Given the description of an element on the screen output the (x, y) to click on. 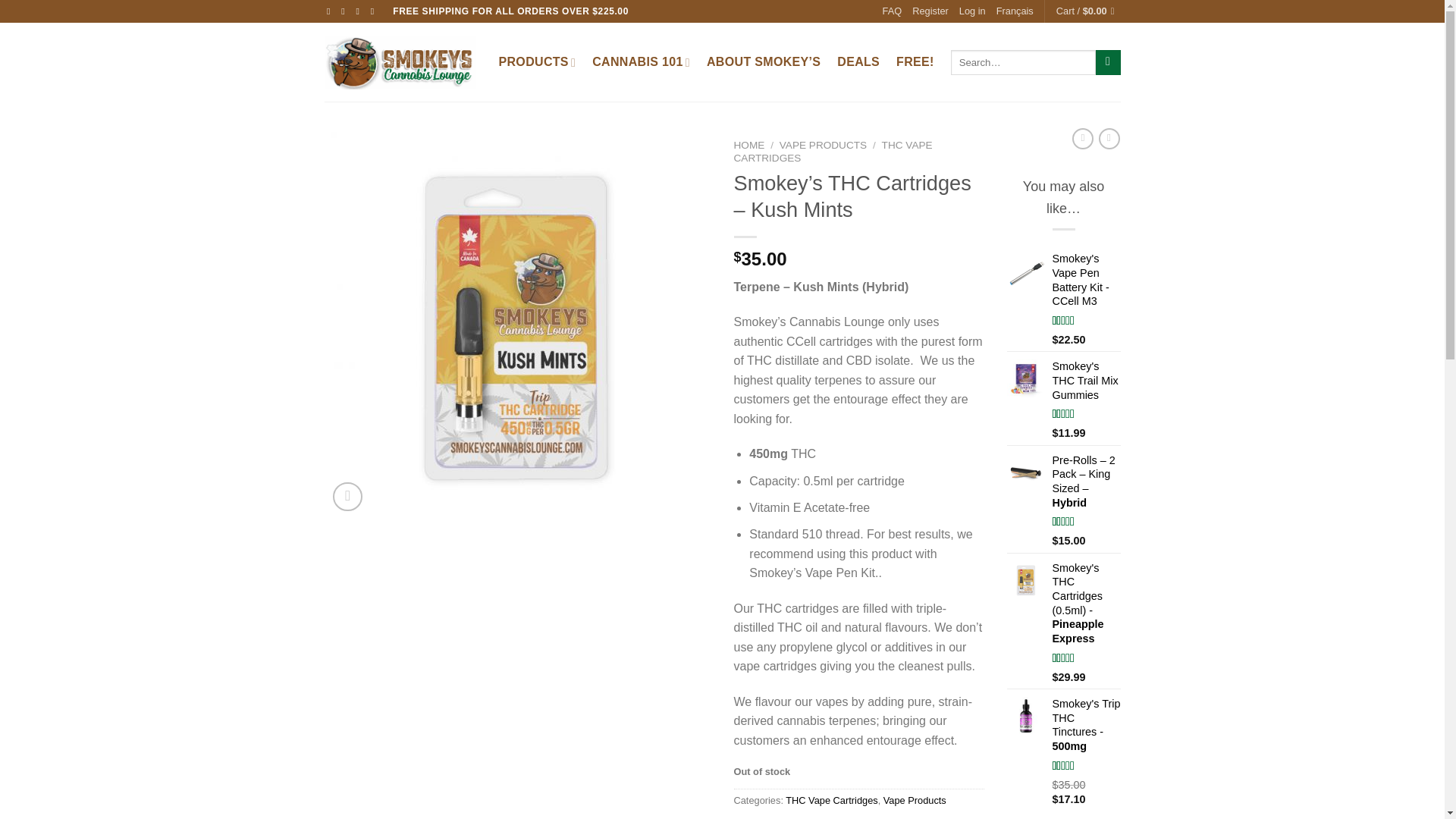
FAQ (892, 11)
Follow on Facebook (331, 10)
Send us an email (375, 10)
Register (930, 11)
PRODUCTS (537, 61)
Smokey's THC Trail Mix Gummies (1086, 380)
Smokey's Cannabis Lounge - Mail Order Marijuana (400, 62)
Follow on Instagram (345, 10)
Cart (1089, 11)
Log in (972, 11)
Smokey's Vape Pen Battery Kit - CCell M3 (1086, 279)
Zoom (347, 496)
Follow on Twitter (360, 10)
